Given the description of an element on the screen output the (x, y) to click on. 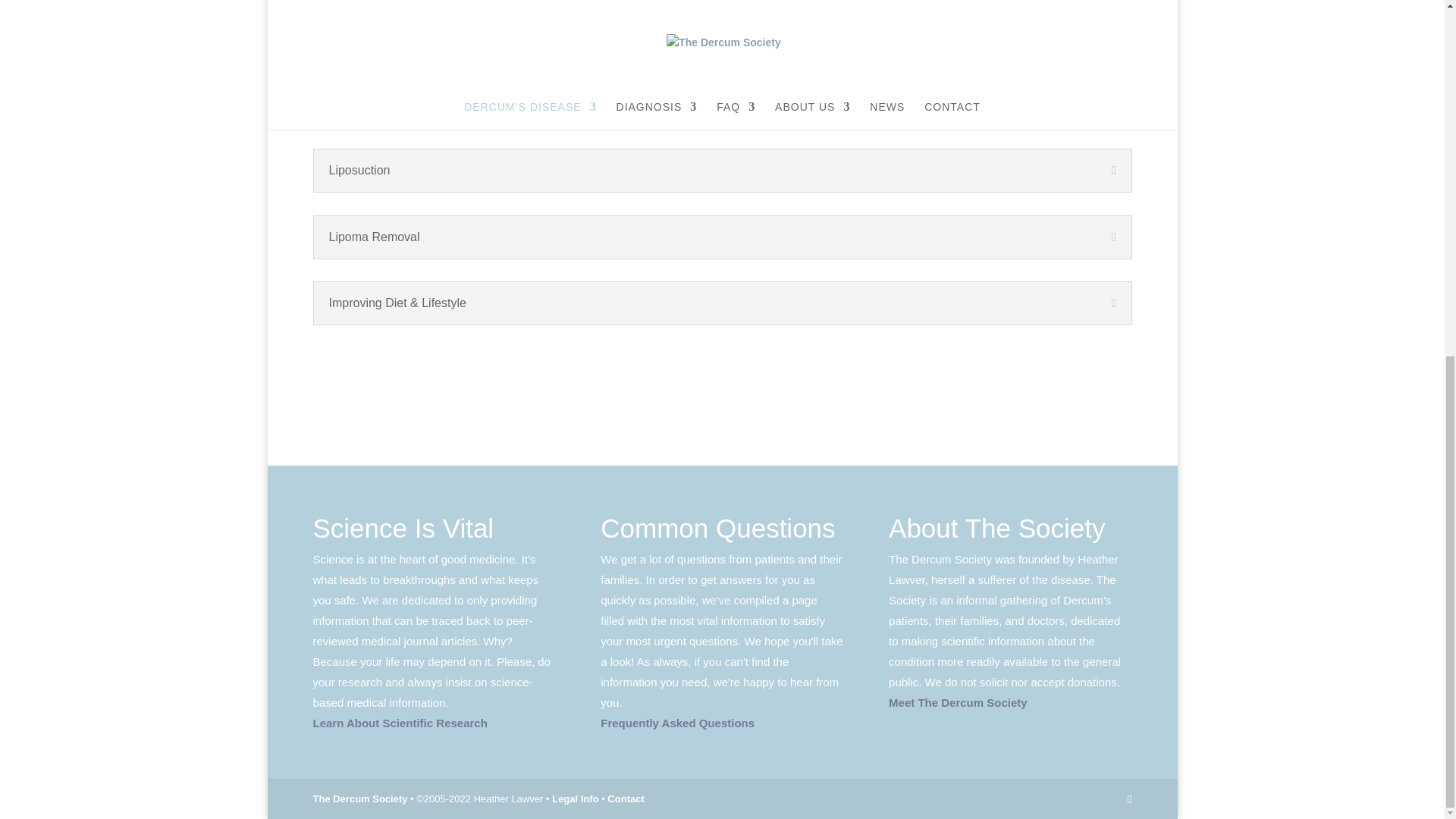
The Dercum Society (360, 798)
Learn About Scientific Research (399, 722)
Frequently Asked Questions (676, 722)
History (1091, 385)
Legal Info (574, 798)
Meet The Dercum Society (957, 702)
Symptoms (364, 385)
